Given the description of an element on the screen output the (x, y) to click on. 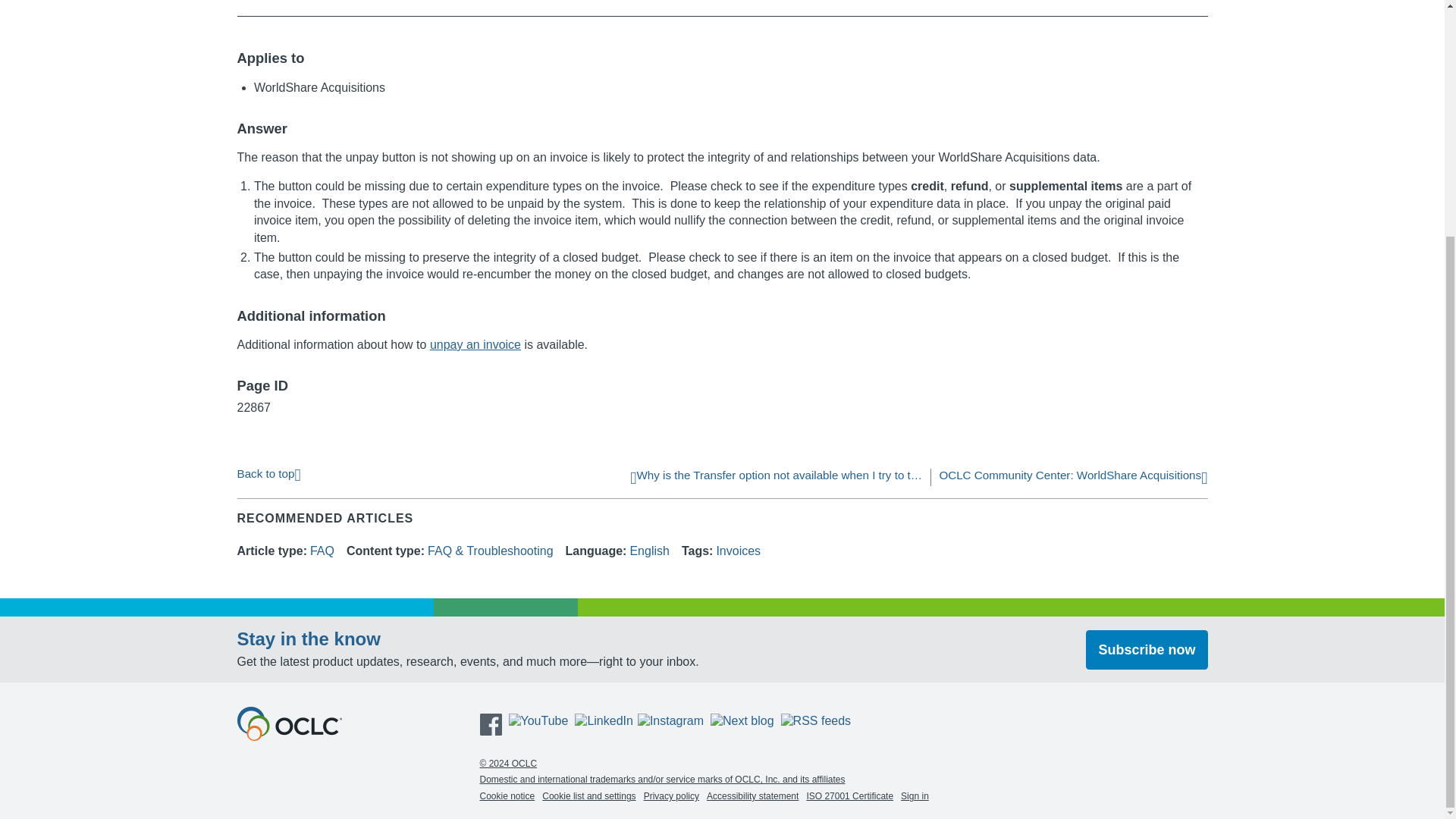
Back to top (267, 472)
Jump back to top of this article (267, 472)
unpay an invoice (475, 344)
OCLC Community Center: WorldShare Acquisitions (1073, 477)
OCLC Community Center: WorldShare Acquisitions (1073, 477)
FAQ (322, 550)
